Given the description of an element on the screen output the (x, y) to click on. 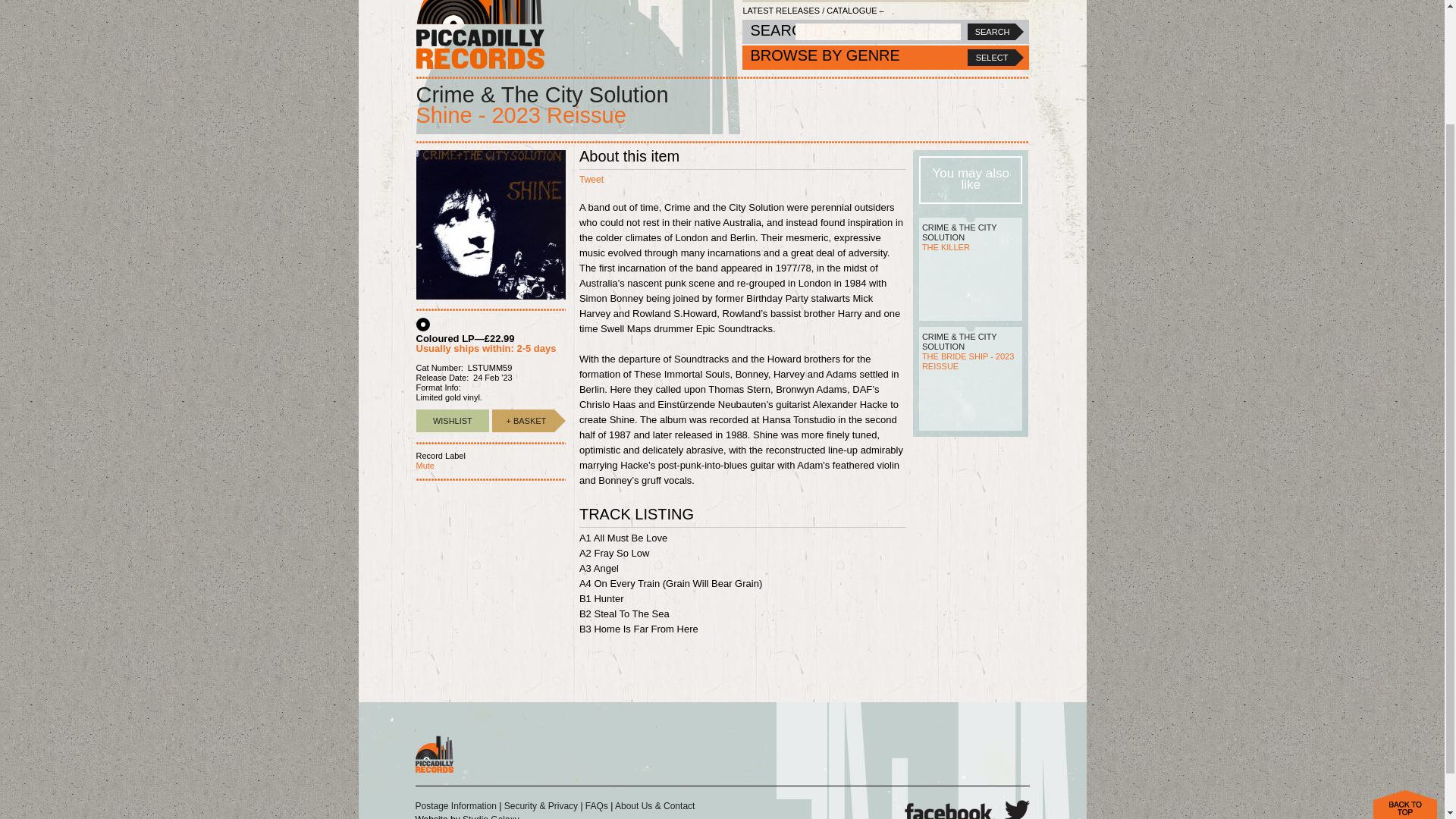
Postage Information (455, 805)
Piccadilly Records (478, 34)
Usually ships within: 2-5 days (485, 348)
Item usually despatched within 2-5 days (523, 420)
Mute (423, 465)
WISHLIST (451, 420)
Tweet (591, 179)
FAQs (596, 805)
Search for other items on Mute (423, 465)
